Given the description of an element on the screen output the (x, y) to click on. 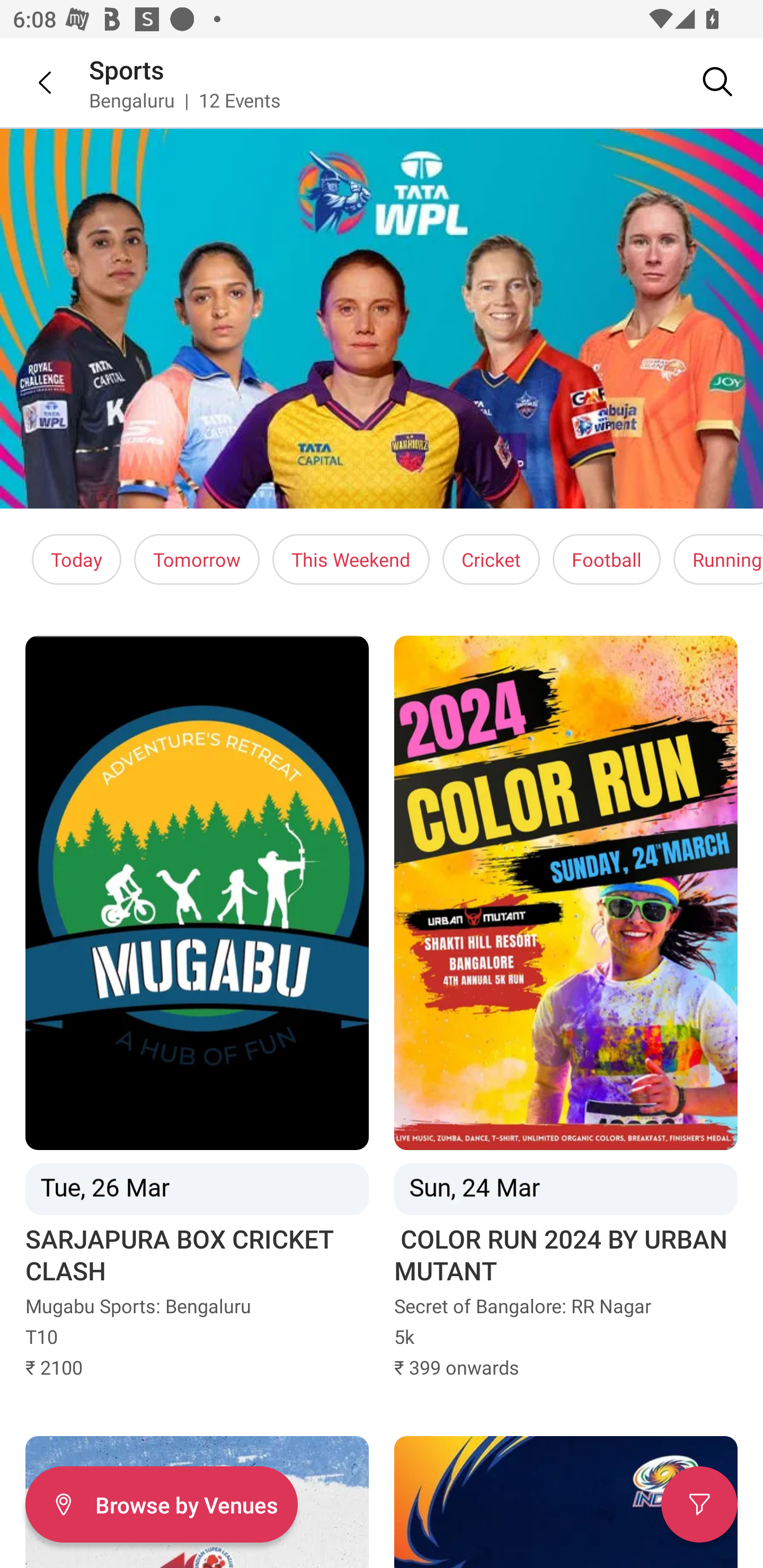
Back (31, 82)
Sports (126, 68)
Bengaluru  |  12 Events (185, 99)
Today (76, 559)
Tomorrow (196, 559)
This Weekend (350, 559)
Cricket (491, 559)
Football (606, 559)
Running (718, 559)
Filter Browse by Venues (161, 1504)
Filter (699, 1504)
